Given the description of an element on the screen output the (x, y) to click on. 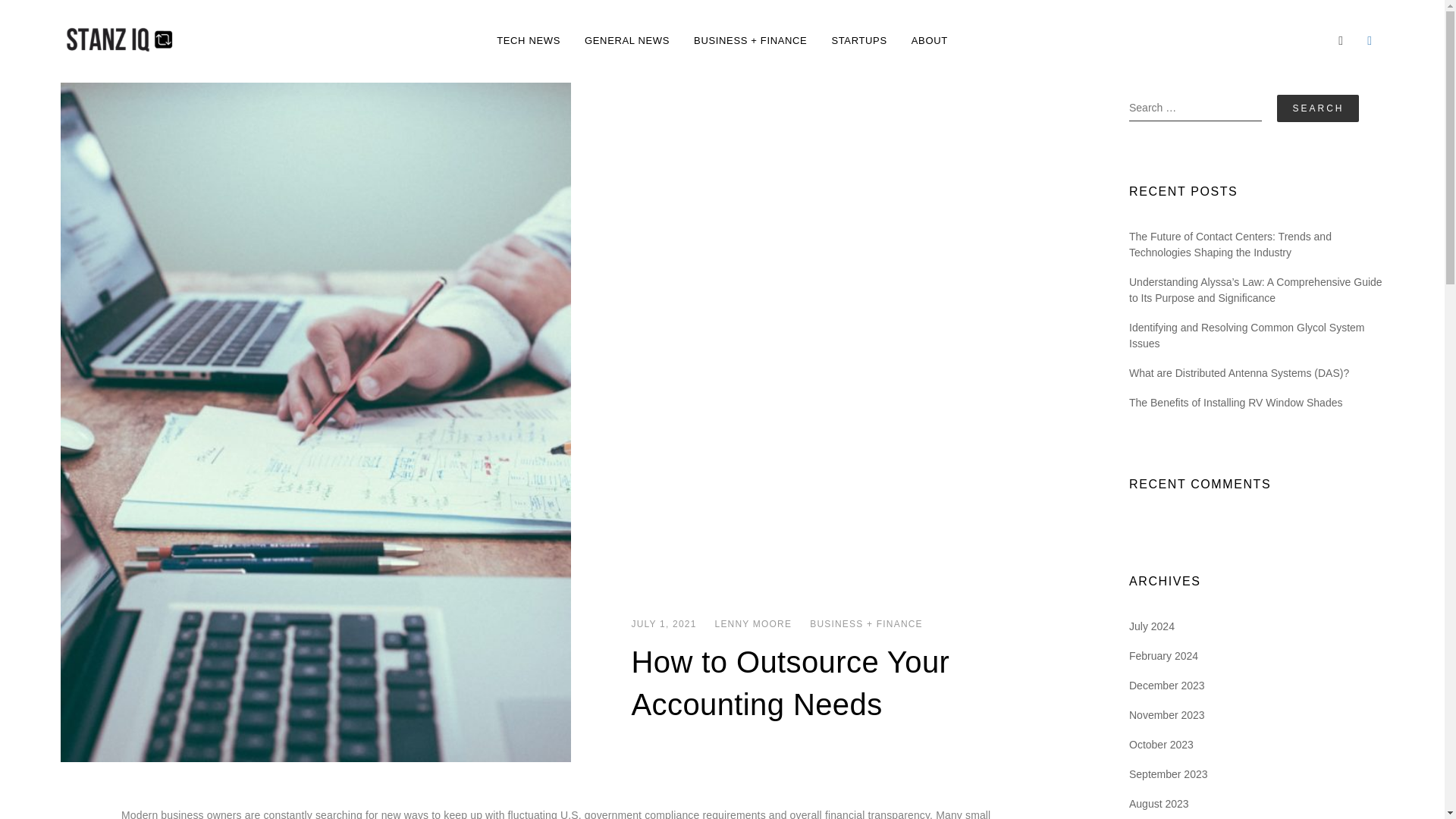
Search (1317, 107)
The Benefits of Installing RV Window Shades (1235, 401)
JULY 1, 2021 (662, 623)
TECH NEWS (528, 40)
Search (1317, 107)
GENERAL NEWS (626, 40)
StanzIQ (221, 51)
LENNY MOORE (753, 623)
Identifying and Resolving Common Glycol System Issues (1256, 336)
ABOUT (929, 40)
Search (1317, 107)
STARTUPS (858, 40)
